Given the description of an element on the screen output the (x, y) to click on. 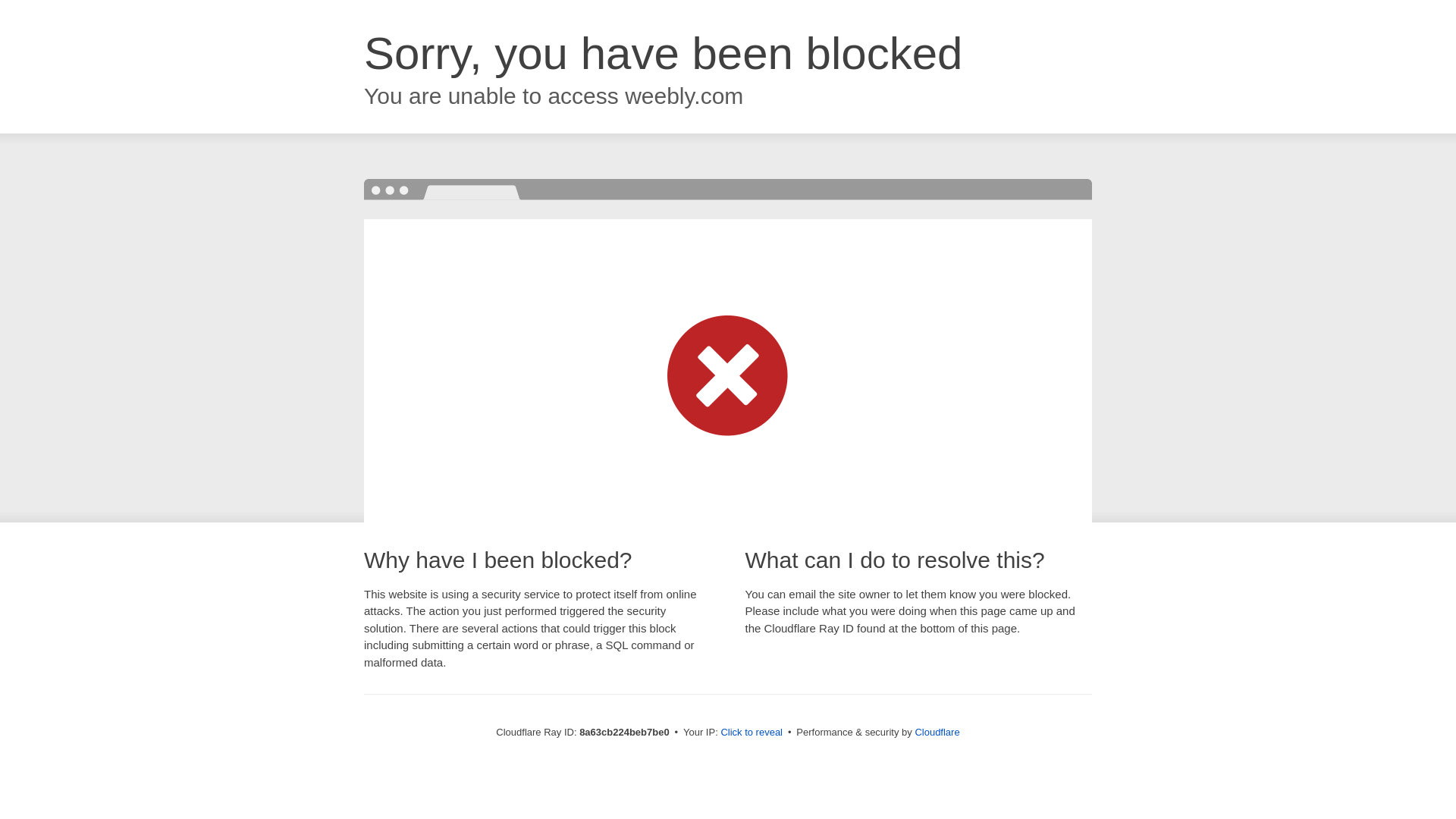
Click to reveal (751, 732)
Cloudflare (936, 731)
